Given the description of an element on the screen output the (x, y) to click on. 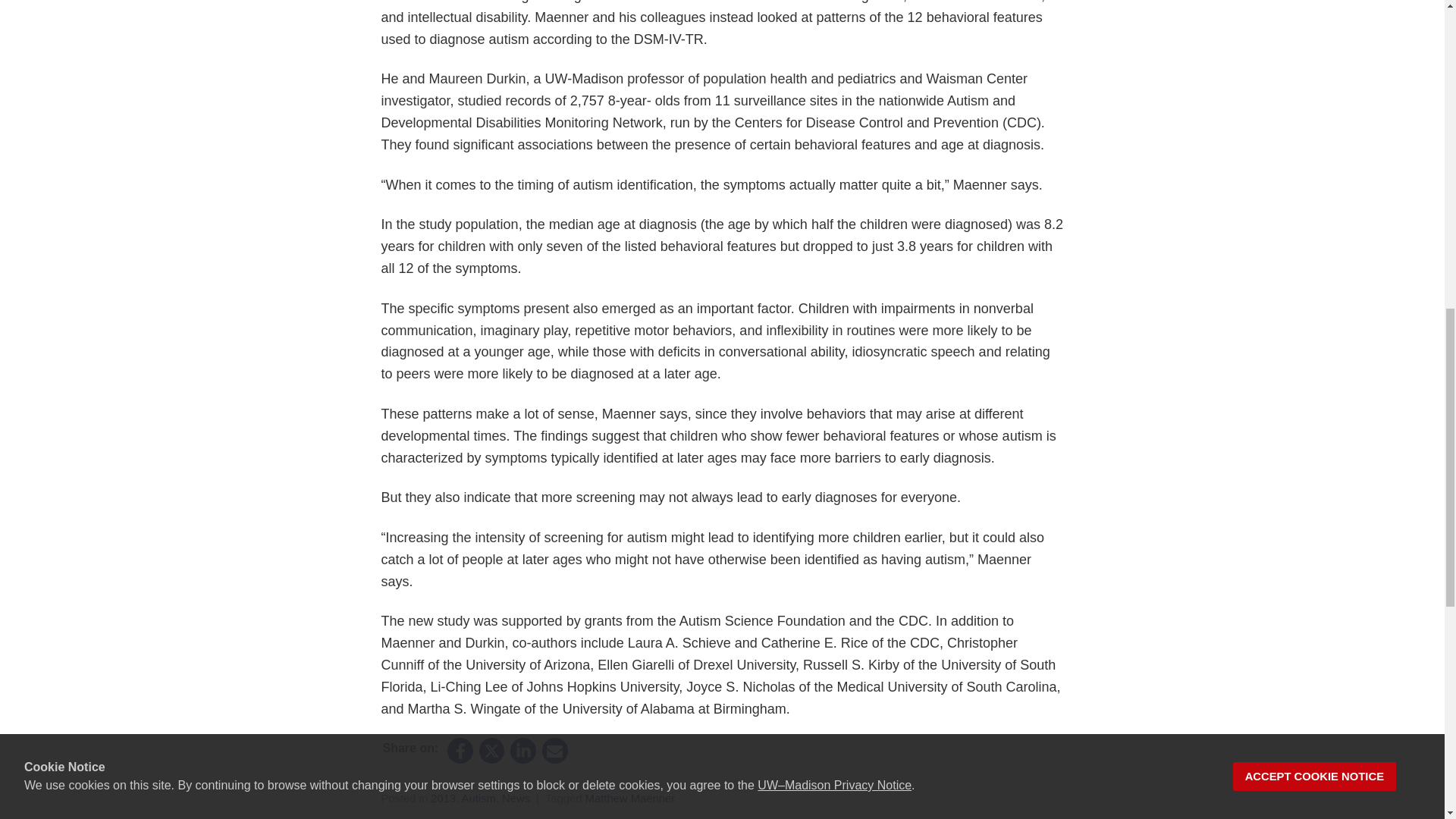
Share on LinkedIn (523, 750)
Share on Facebook (460, 750)
Share on Email (554, 750)
Share on X Twitter (491, 750)
